Given the description of an element on the screen output the (x, y) to click on. 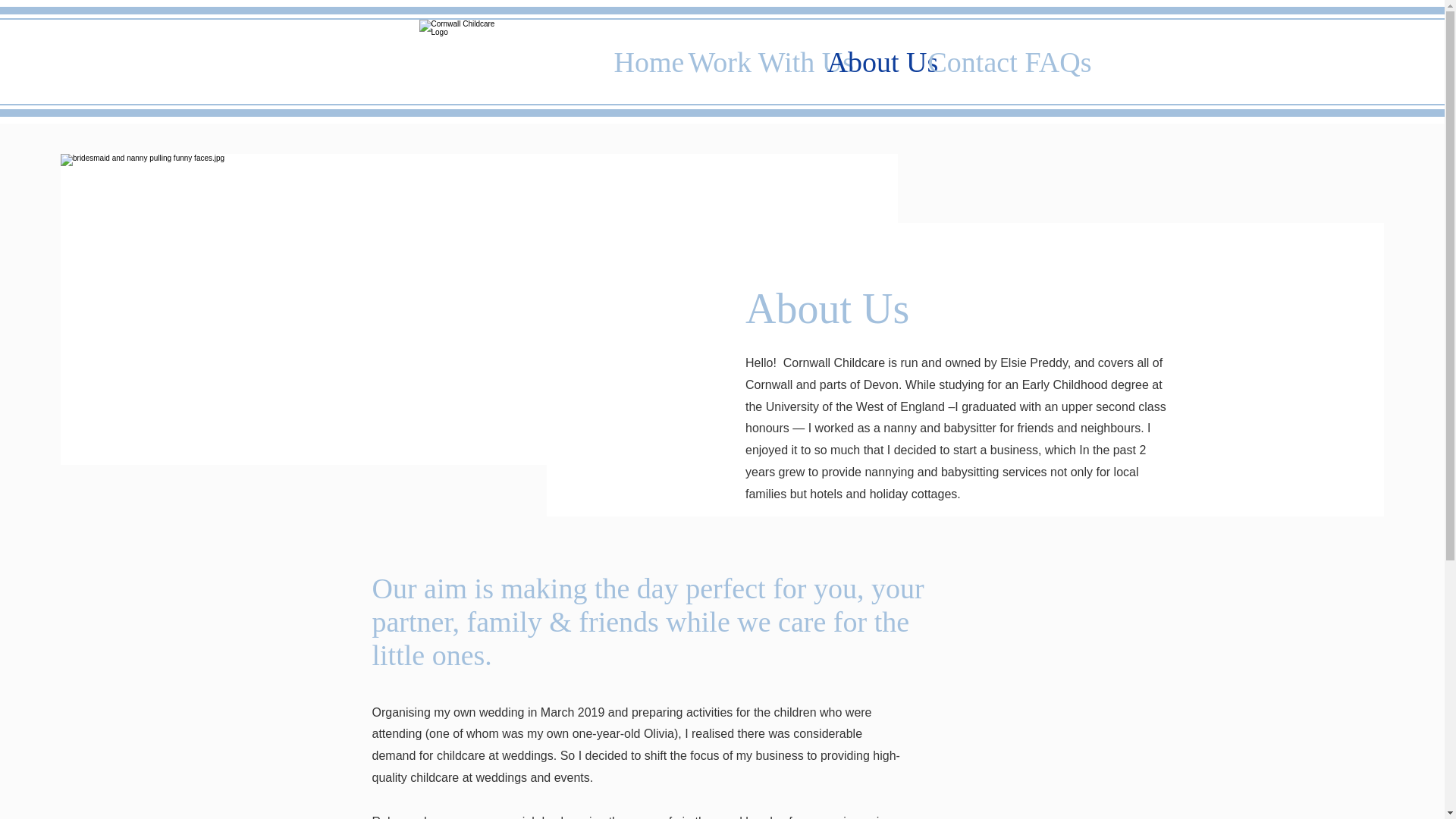
Work With Us (746, 61)
About Us (866, 61)
FAQs (1045, 61)
Contact (964, 61)
Home (639, 61)
